Given the description of an element on the screen output the (x, y) to click on. 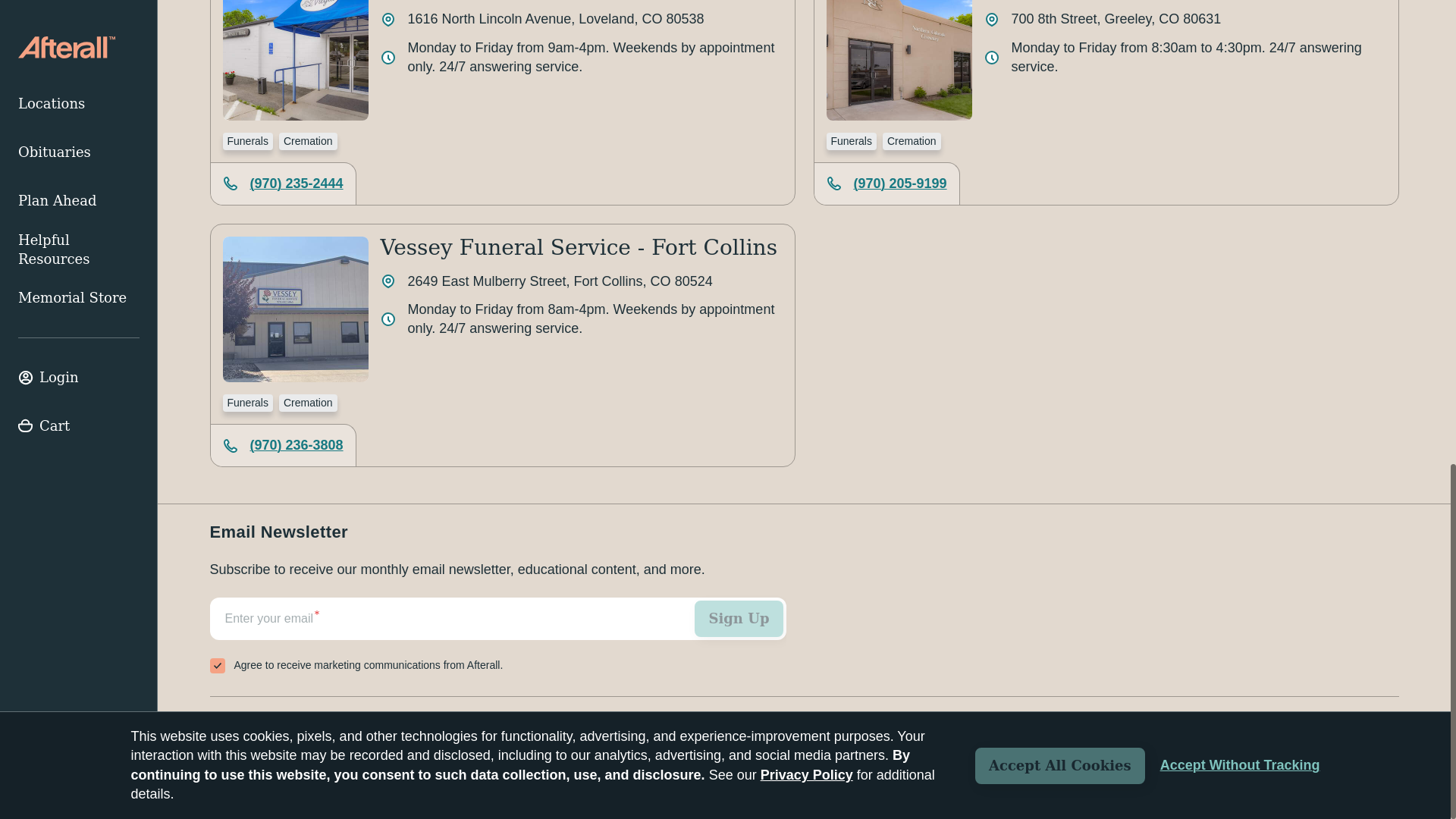
Email Newsletter (497, 637)
